Given the description of an element on the screen output the (x, y) to click on. 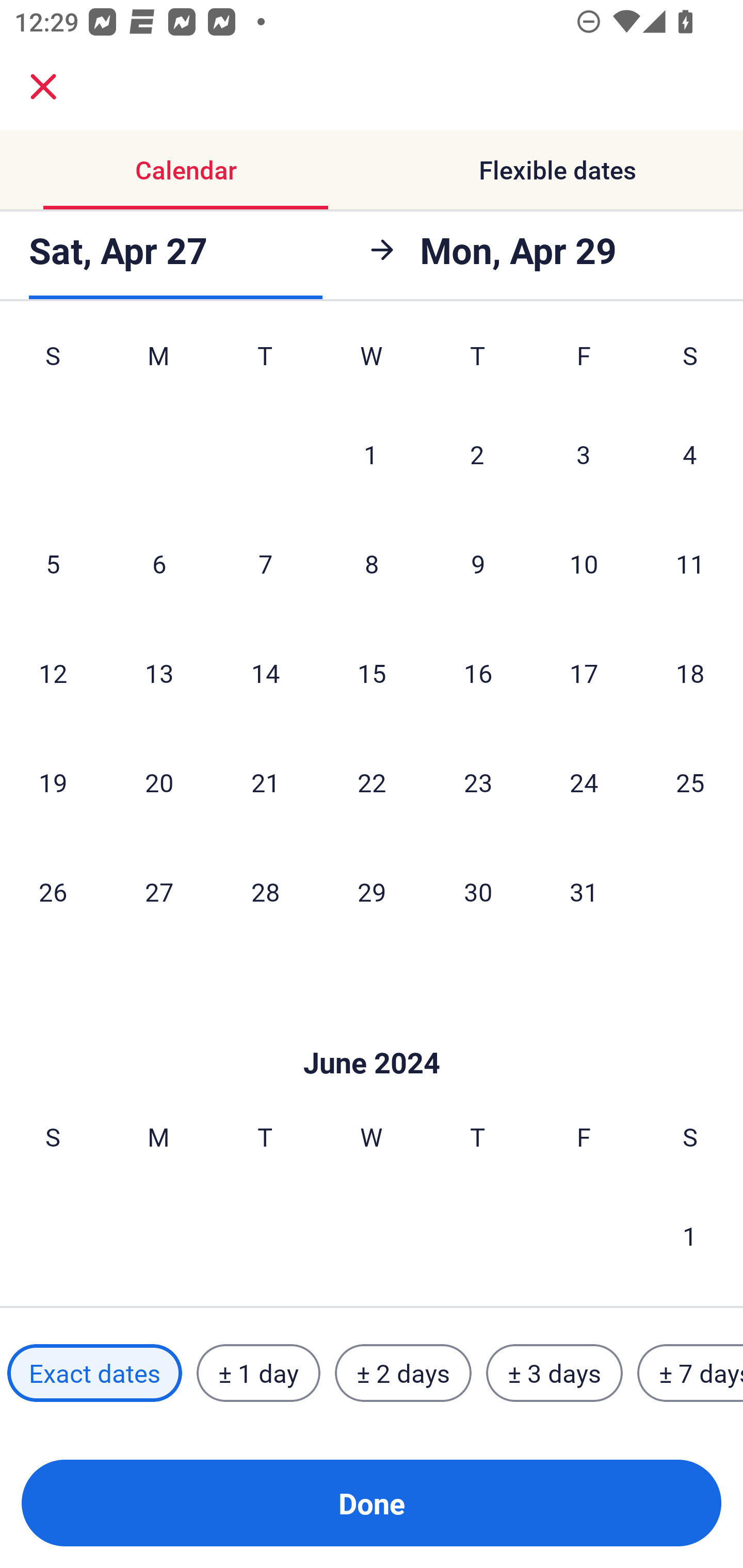
close. (43, 86)
Flexible dates (557, 170)
1 Wednesday, May 1, 2024 (371, 453)
2 Thursday, May 2, 2024 (477, 453)
3 Friday, May 3, 2024 (583, 453)
4 Saturday, May 4, 2024 (689, 453)
5 Sunday, May 5, 2024 (53, 563)
6 Monday, May 6, 2024 (159, 563)
7 Tuesday, May 7, 2024 (265, 563)
8 Wednesday, May 8, 2024 (371, 563)
9 Thursday, May 9, 2024 (477, 563)
10 Friday, May 10, 2024 (584, 563)
11 Saturday, May 11, 2024 (690, 563)
12 Sunday, May 12, 2024 (53, 672)
13 Monday, May 13, 2024 (159, 672)
14 Tuesday, May 14, 2024 (265, 672)
15 Wednesday, May 15, 2024 (371, 672)
16 Thursday, May 16, 2024 (477, 672)
17 Friday, May 17, 2024 (584, 672)
18 Saturday, May 18, 2024 (690, 672)
19 Sunday, May 19, 2024 (53, 782)
20 Monday, May 20, 2024 (159, 782)
21 Tuesday, May 21, 2024 (265, 782)
22 Wednesday, May 22, 2024 (371, 782)
23 Thursday, May 23, 2024 (477, 782)
24 Friday, May 24, 2024 (584, 782)
25 Saturday, May 25, 2024 (690, 782)
26 Sunday, May 26, 2024 (53, 890)
27 Monday, May 27, 2024 (159, 890)
28 Tuesday, May 28, 2024 (265, 890)
29 Wednesday, May 29, 2024 (371, 890)
30 Thursday, May 30, 2024 (477, 890)
31 Friday, May 31, 2024 (584, 890)
Skip to Done (371, 1032)
1 Saturday, June 1, 2024 (689, 1235)
Exact dates (94, 1372)
± 1 day (258, 1372)
± 2 days (403, 1372)
± 3 days (553, 1372)
± 7 days (690, 1372)
Done (371, 1502)
